Given the description of an element on the screen output the (x, y) to click on. 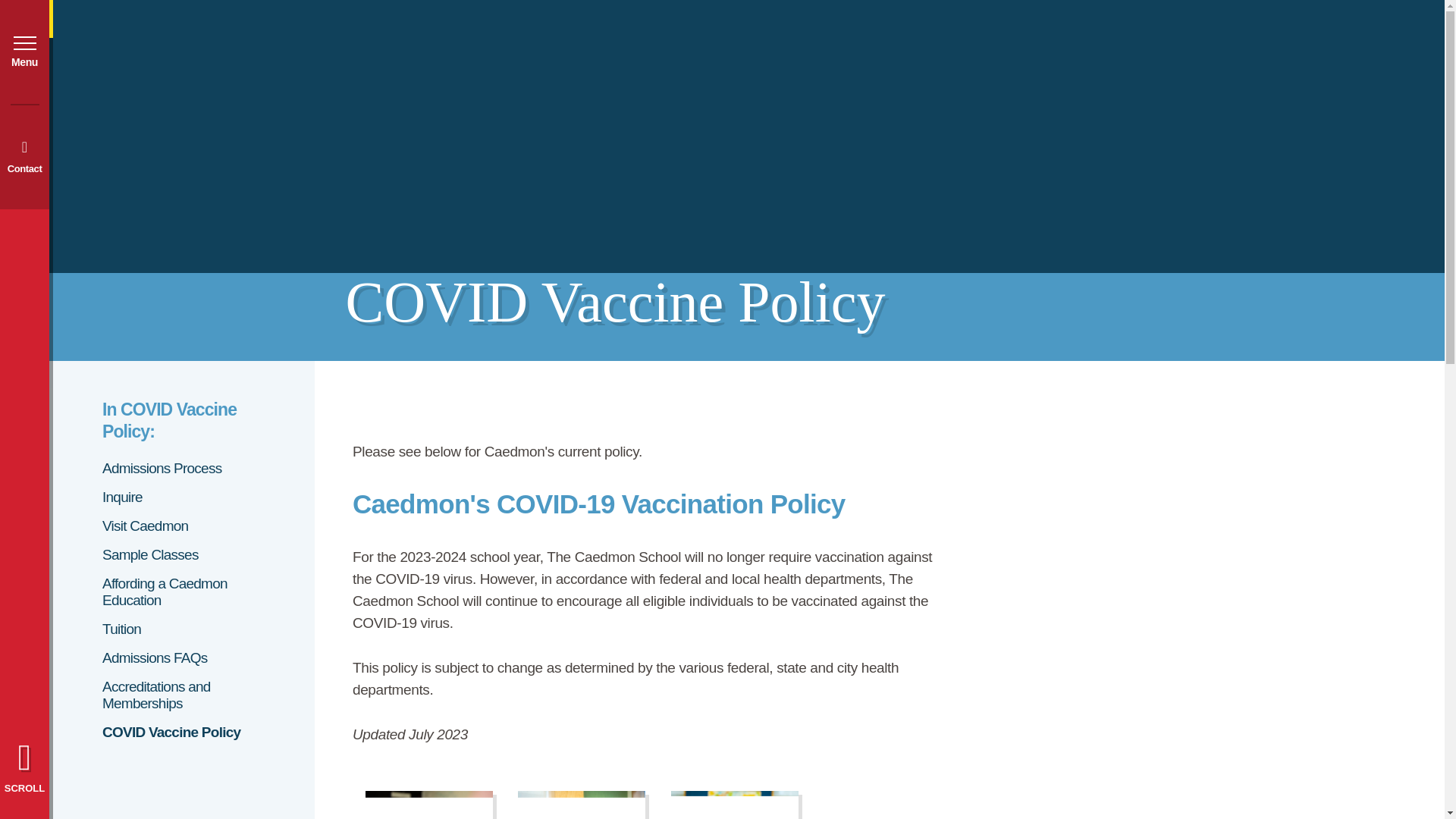
The Caedmon School (181, 67)
Inquire (734, 805)
Visit Caedmon (181, 526)
Admissions Process (581, 805)
Inquire (181, 496)
Sample Classes (181, 554)
Admissions Process (181, 468)
Accreditations and Memberships (181, 695)
Admissions FAQs (181, 658)
Inquire (181, 496)
Sample Classes (181, 554)
Affording a Caedmon Education (181, 591)
Affording a Caedmon Education (181, 591)
Visit Caedmon (181, 526)
Admissions Process (181, 468)
